Given the description of an element on the screen output the (x, y) to click on. 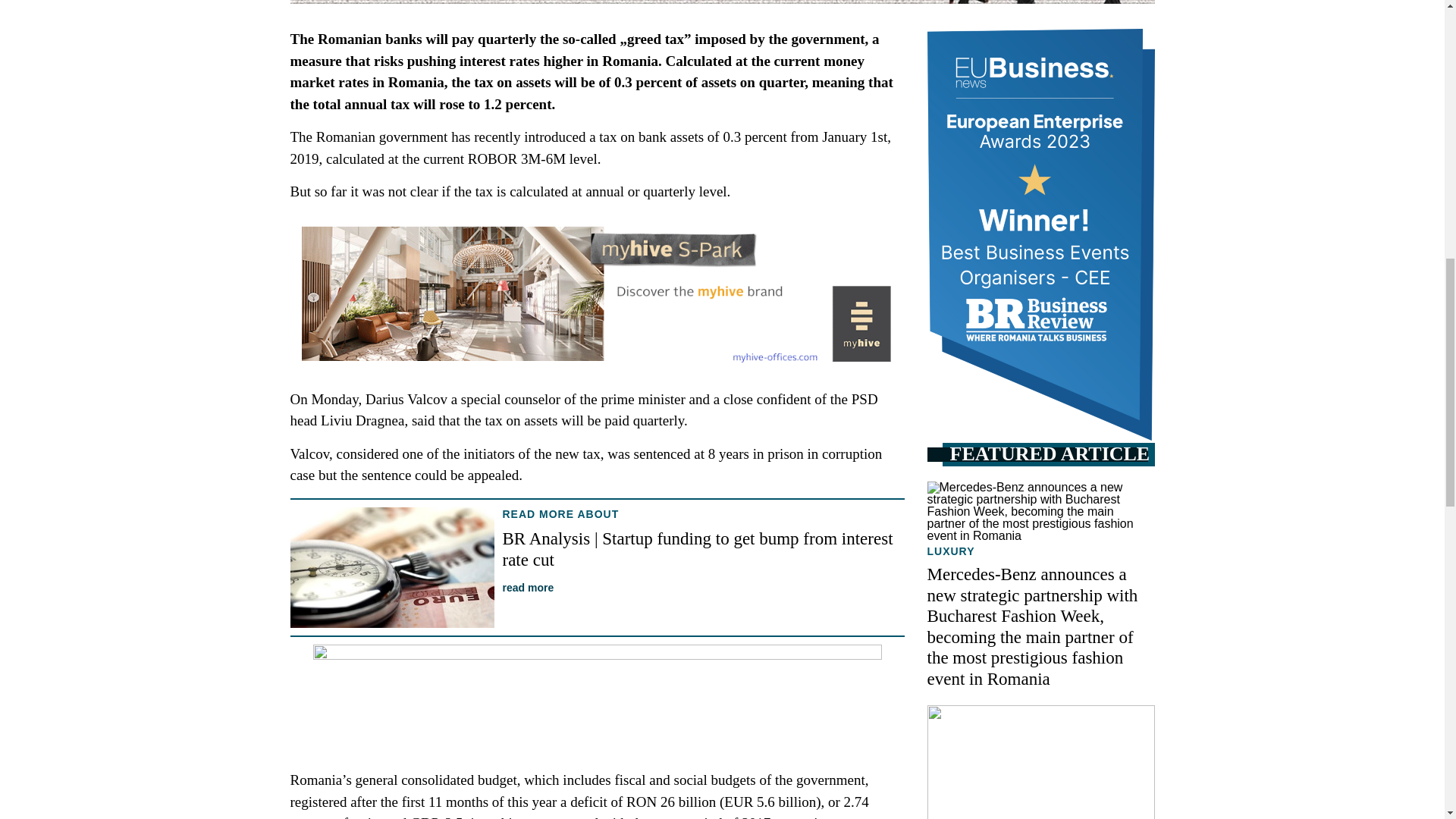
read more (527, 587)
LUXURY (950, 551)
